Given the description of an element on the screen output the (x, y) to click on. 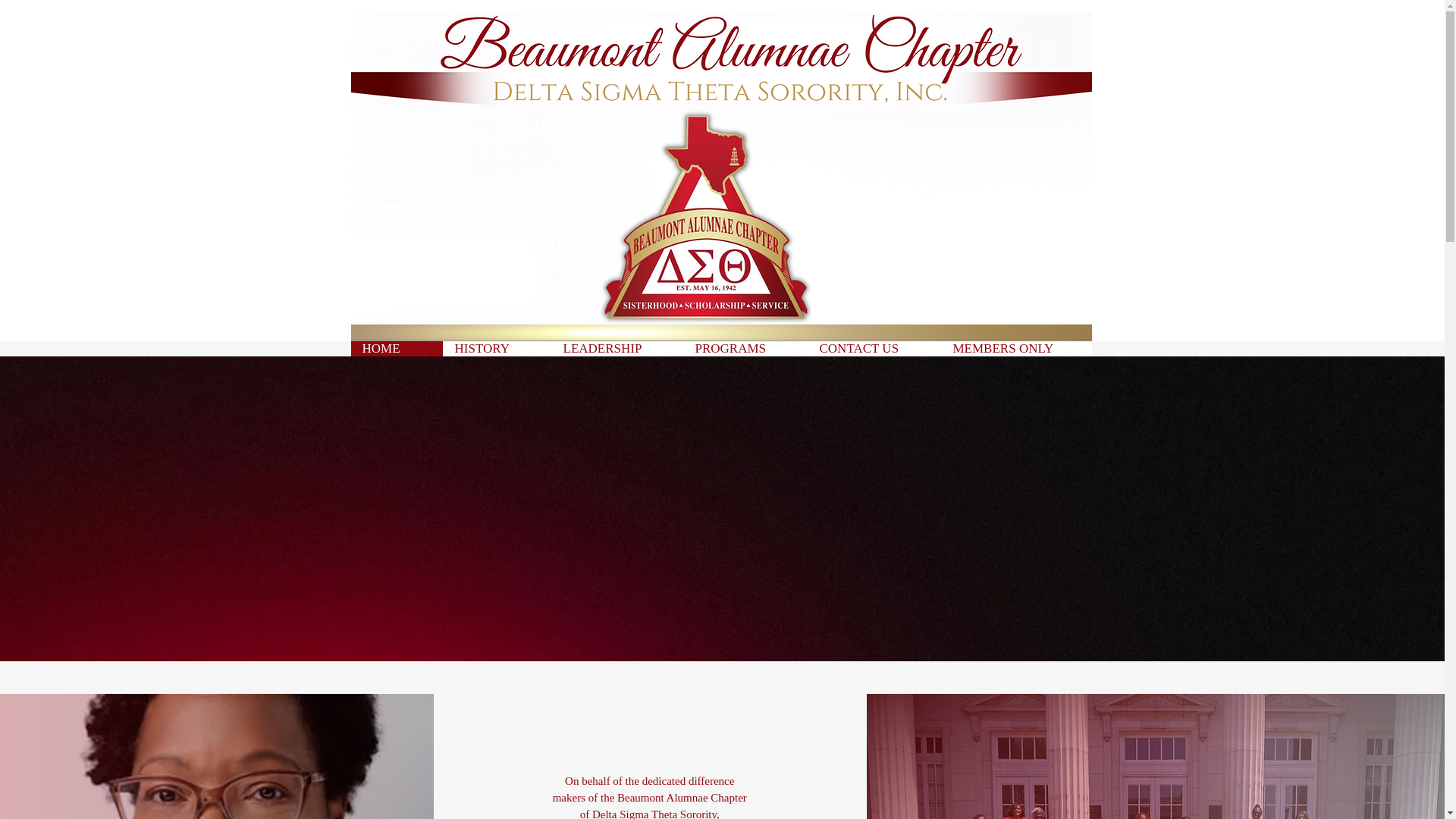
CONTACT US (873, 348)
MEMBERS ONLY (1015, 348)
HOME (396, 348)
